Given the description of an element on the screen output the (x, y) to click on. 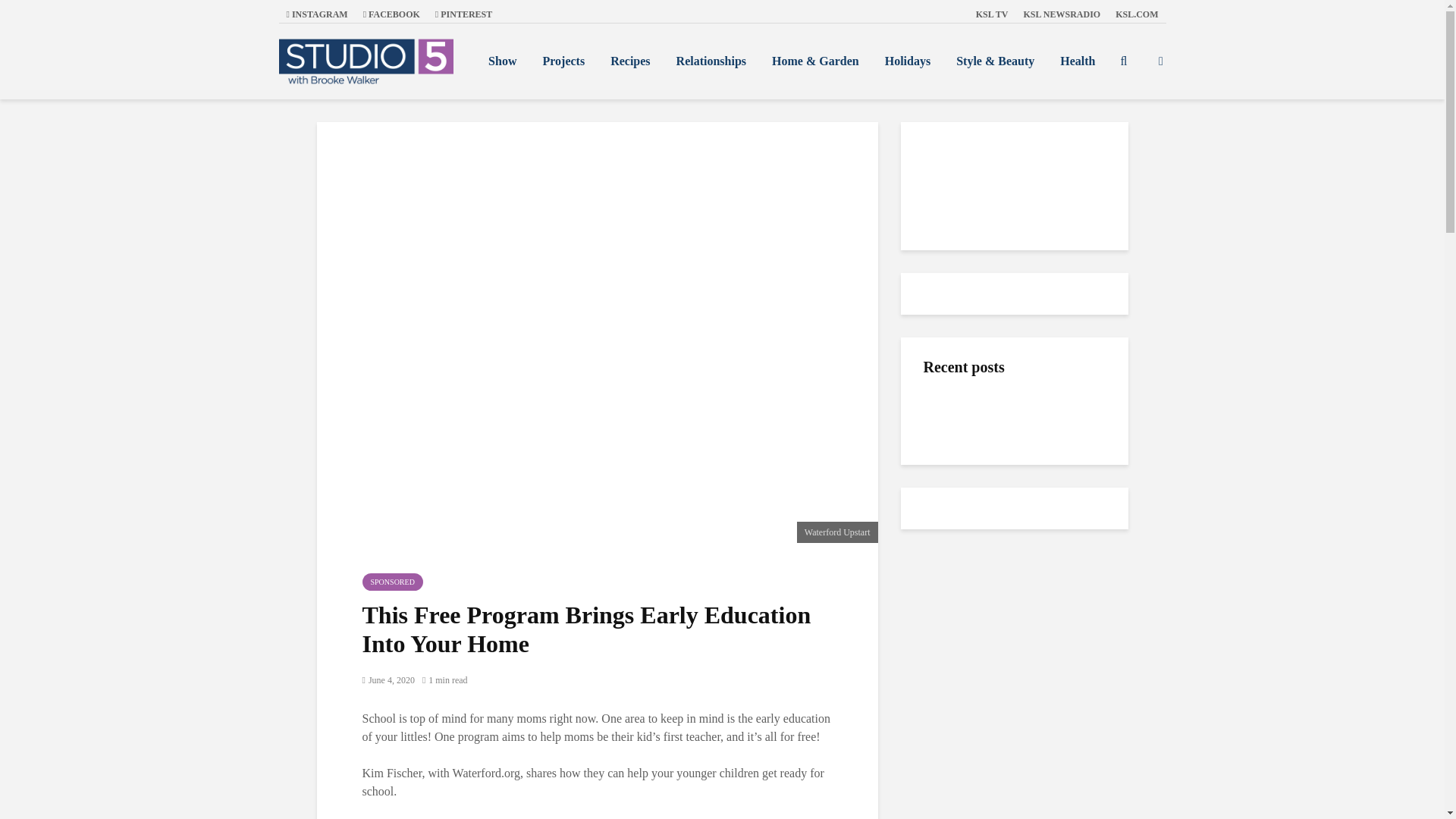
INSTAGRAM (317, 14)
Recipes (629, 60)
Health (1077, 60)
KSL NEWSRADIO (1061, 14)
PINTEREST (463, 14)
SPONSORED (392, 581)
Show (502, 60)
Holidays (907, 60)
FACEBOOK (391, 14)
KSL.COM (1137, 14)
